Given the description of an element on the screen output the (x, y) to click on. 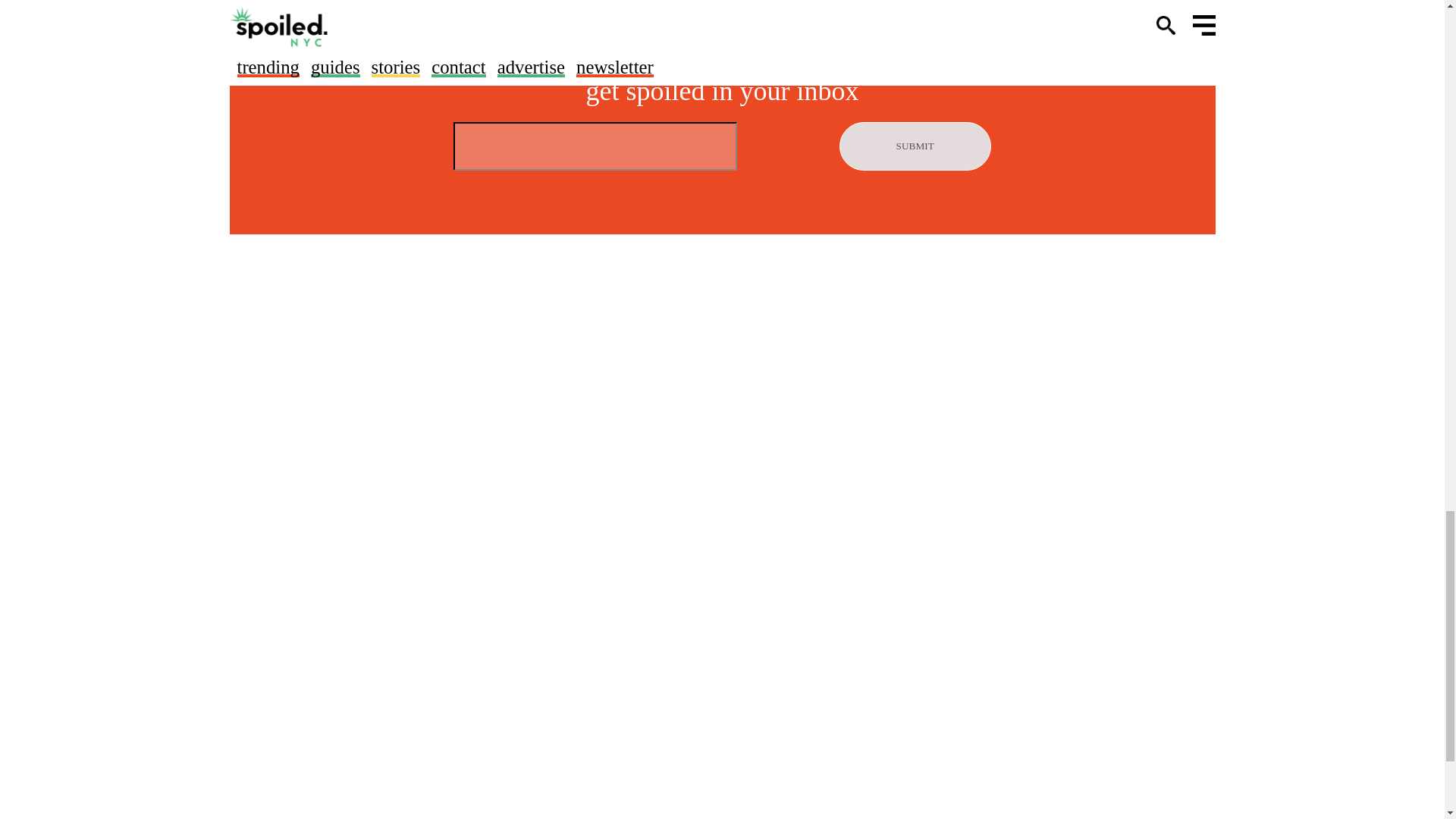
Instagram (876, 41)
Gothamist (406, 41)
SUBMIT (915, 146)
7 Reasons Why Cheesecake Is Quintessential NYC (616, 3)
